Given the description of an element on the screen output the (x, y) to click on. 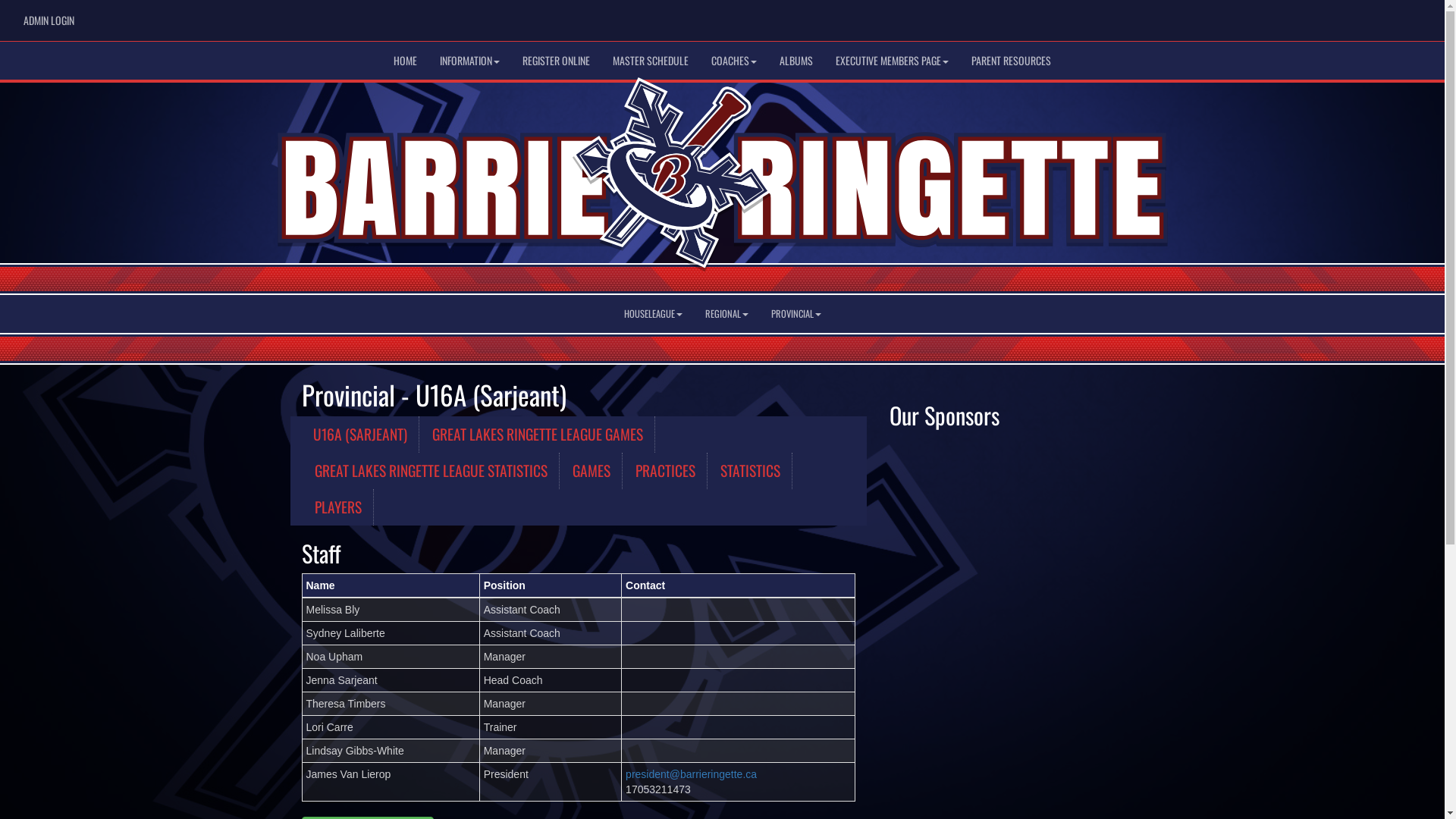
PRACTICES Element type: text (664, 470)
GREAT LAKES RINGETTE LEAGUE GAMES Element type: text (537, 434)
Facebook Element type: text (1366, 15)
MASTER SCHEDULE Element type: text (650, 60)
PROVINCIAL Element type: text (795, 313)
Instagram Element type: text (1411, 15)
GAMES Element type: text (591, 470)
U16A (SARJEANT) Element type: text (360, 434)
HOUSELEAGUE Element type: text (652, 313)
ALBUMS Element type: text (796, 60)
EXECUTIVE MEMBERS PAGE Element type: text (892, 60)
GREAT LAKES RINGETTE LEAGUE STATISTICS Element type: text (431, 470)
president@barrieringette.ca Element type: text (690, 774)
REGIONAL Element type: text (726, 313)
PLAYERS Element type: text (338, 507)
HOME Element type: text (405, 60)
PARENT RESOURCES Element type: text (1011, 60)
 ADMIN LOGIN
ADMIN LOGIN Element type: text (47, 20)
REGISTER ONLINE Element type: text (556, 60)
Twitter Element type: text (1389, 15)
INFORMATION Element type: text (469, 60)
STATISTICS Element type: text (749, 470)
COACHES Element type: text (733, 60)
